Given the description of an element on the screen output the (x, y) to click on. 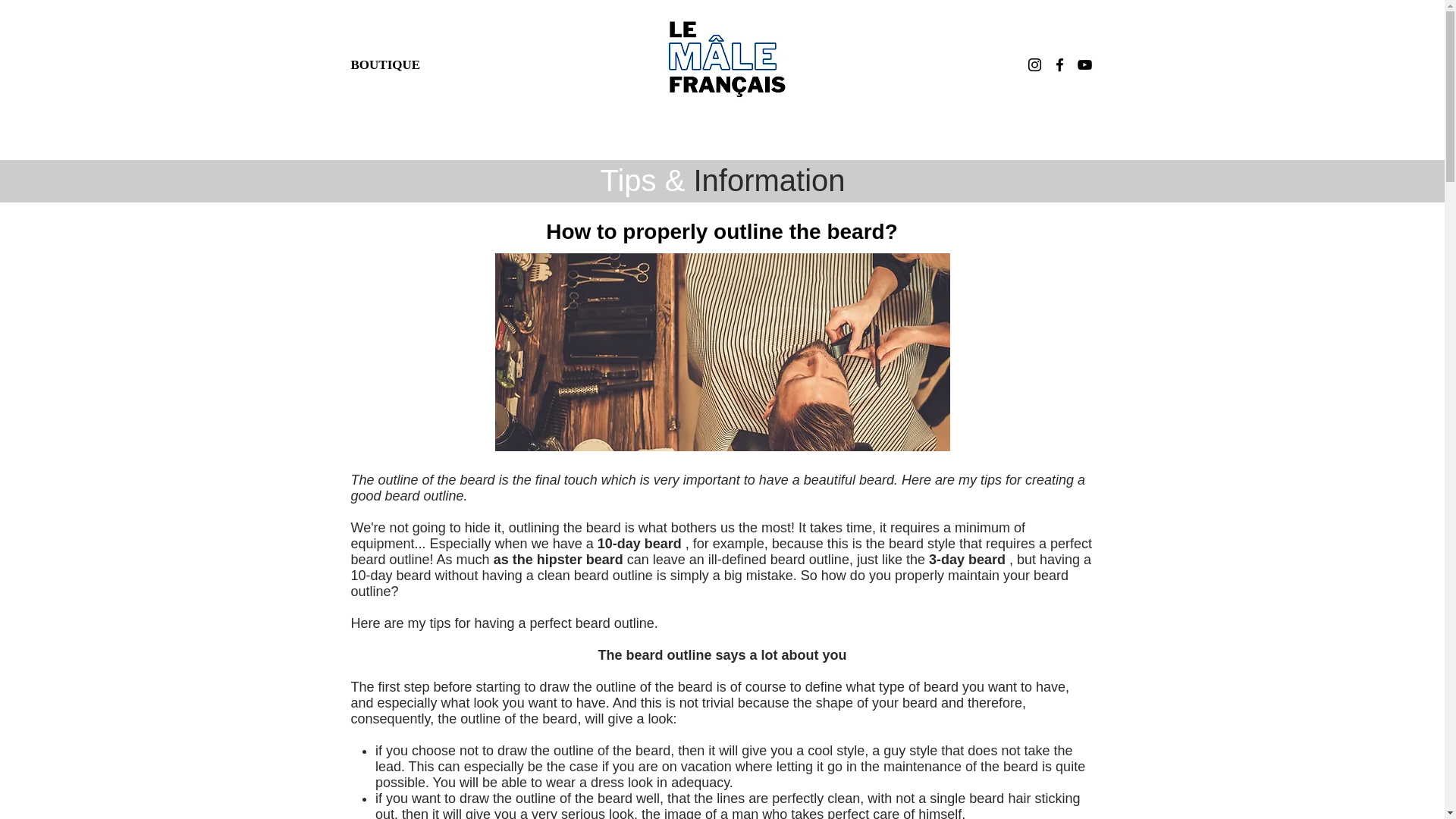
10-day beard (638, 543)
BOUTIQUE (385, 64)
3-day beard (967, 559)
as the hipster beard (558, 559)
